Given the description of an element on the screen output the (x, y) to click on. 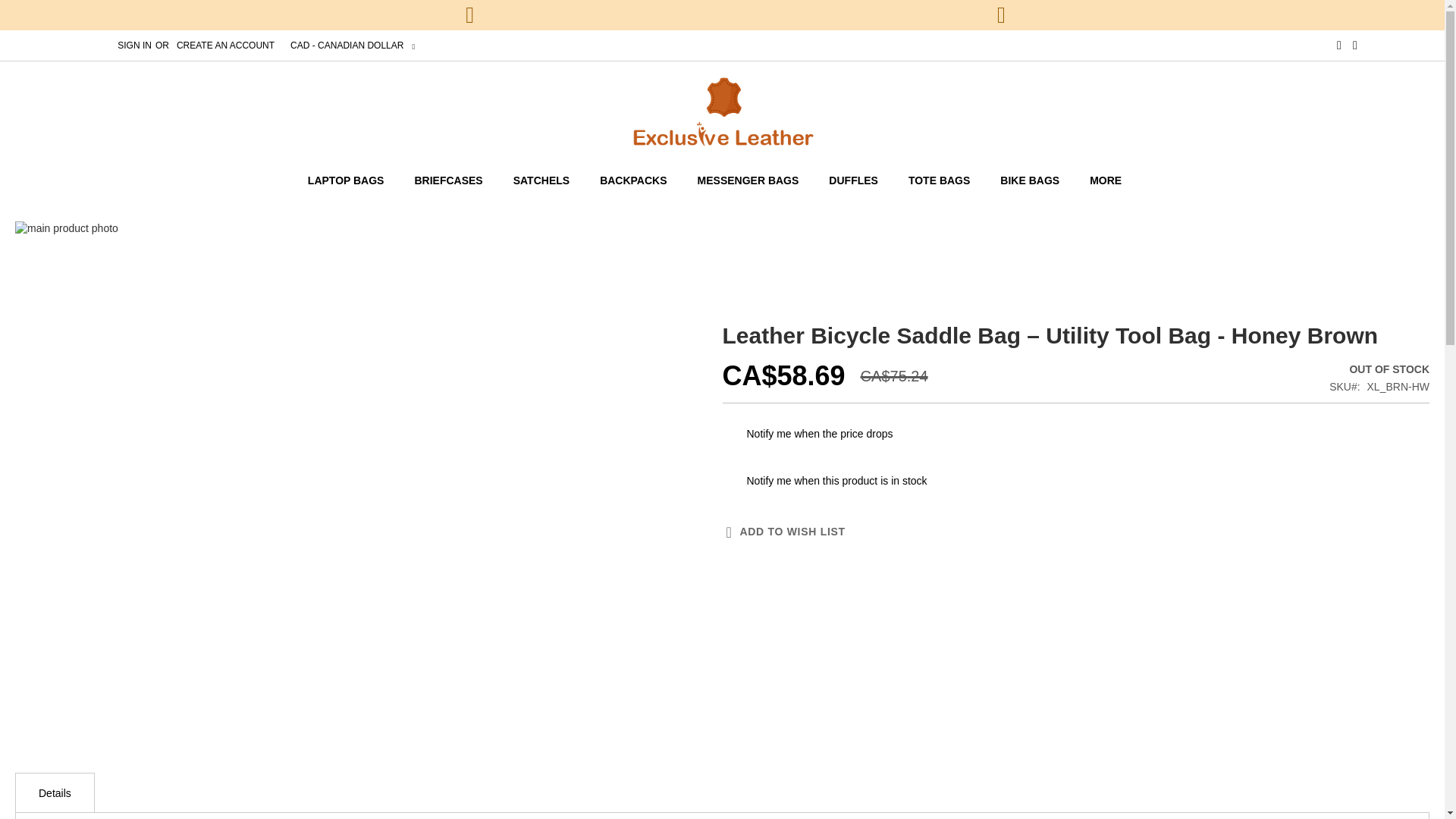
LAPTOP BAGS (352, 180)
Notify me when the price drops (818, 433)
Notify me when this product is in stock (836, 480)
SATCHELS (541, 180)
SIGN IN (134, 45)
Notify me when the price drops (818, 433)
MESSENGER BAGS (747, 180)
Availability (1379, 369)
ADD TO WISH LIST (783, 532)
DUFFLES (853, 180)
BIKE BAGS (1029, 180)
Details (54, 792)
Notify me when this product is in stock (836, 480)
BRIEFCASES (447, 180)
